Given the description of an element on the screen output the (x, y) to click on. 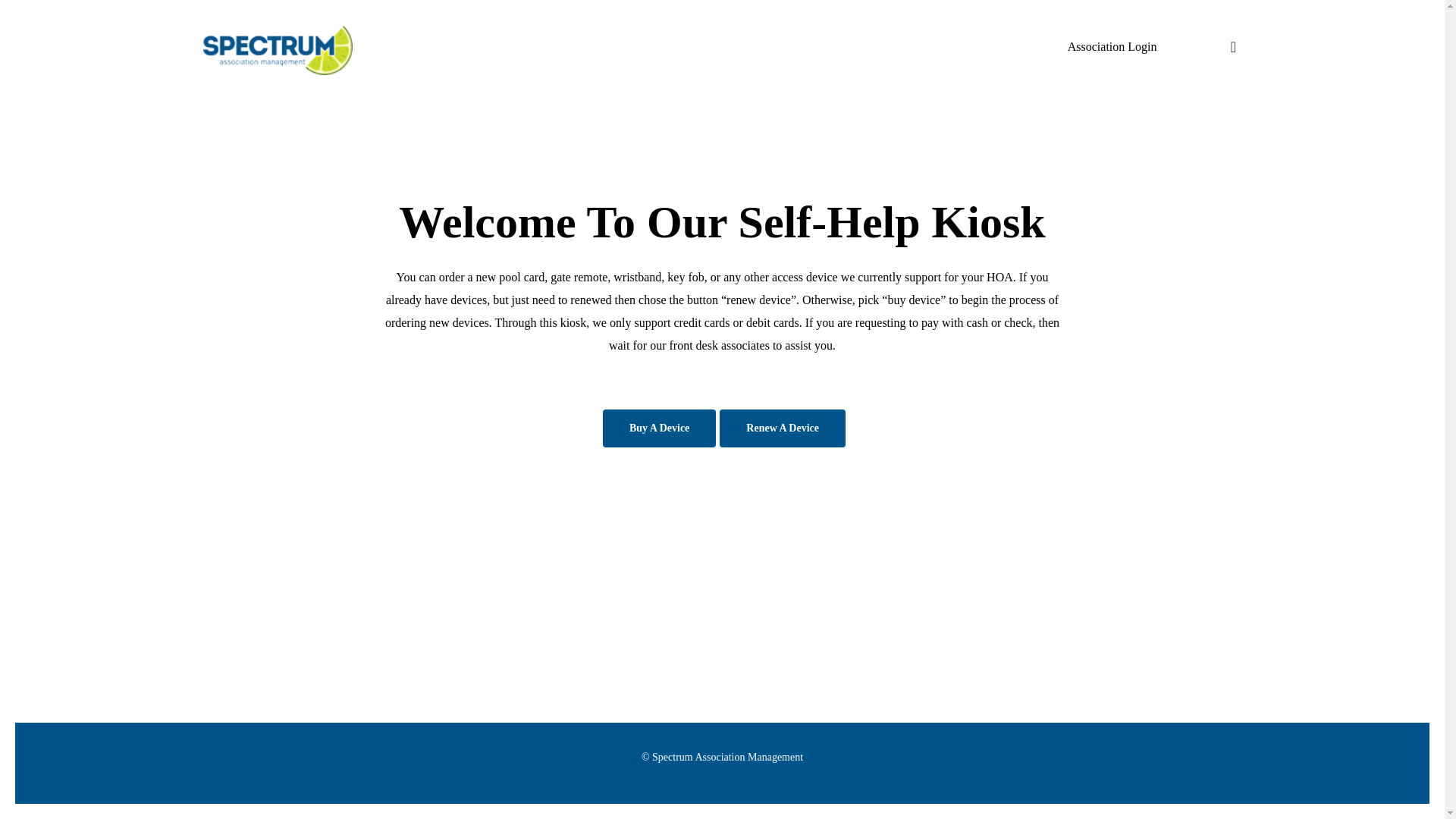
Association Login (1112, 46)
Buy A Device (659, 428)
Renew A Device (782, 428)
